Given the description of an element on the screen output the (x, y) to click on. 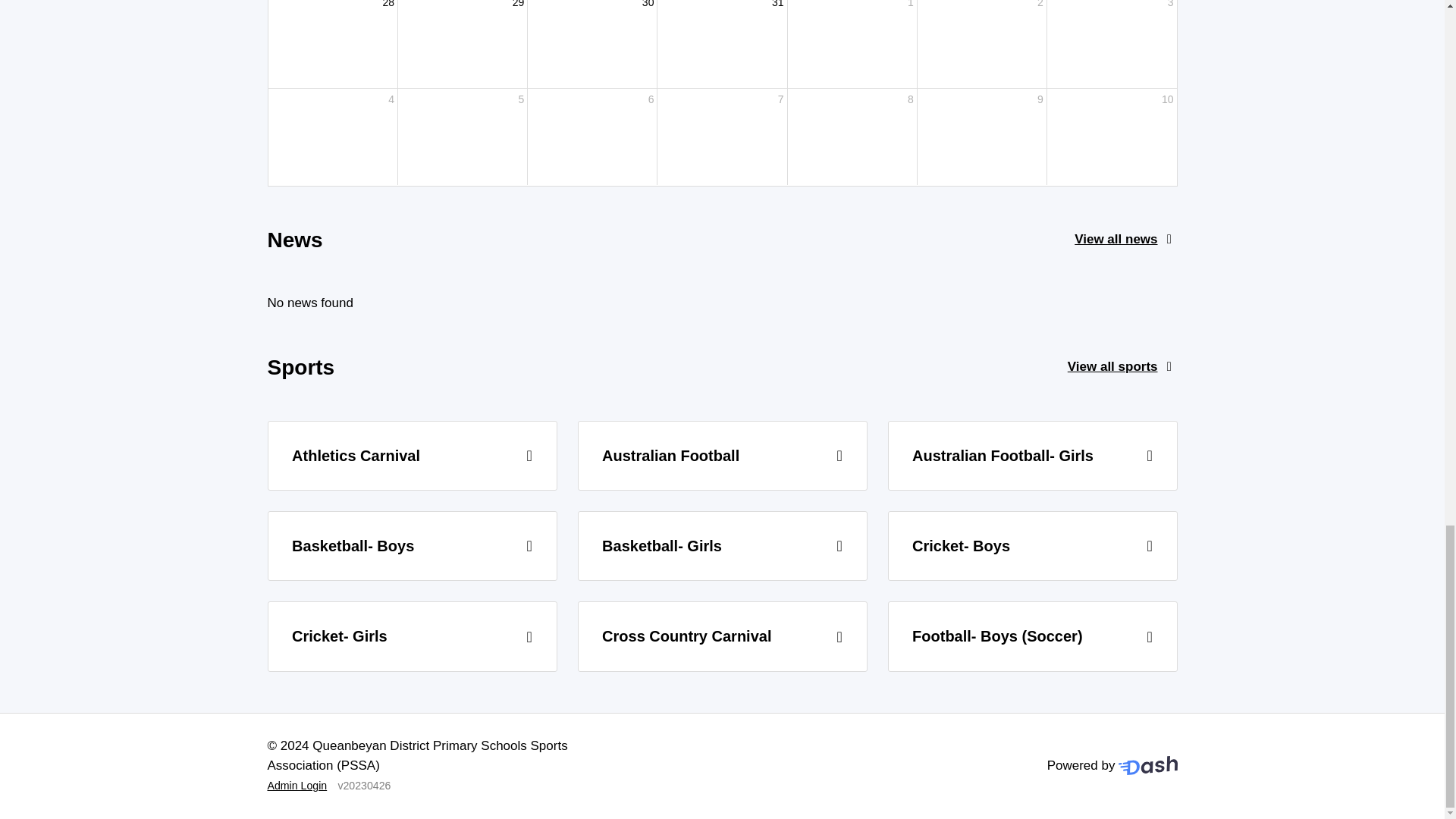
6 (591, 136)
28 (332, 43)
4 (332, 136)
3 (1111, 43)
2 (981, 43)
5 (462, 136)
30 (591, 43)
31 (722, 43)
8 (852, 136)
10 (1111, 136)
9 (981, 136)
1 (852, 43)
7 (722, 136)
29 (462, 43)
